Given the description of an element on the screen output the (x, y) to click on. 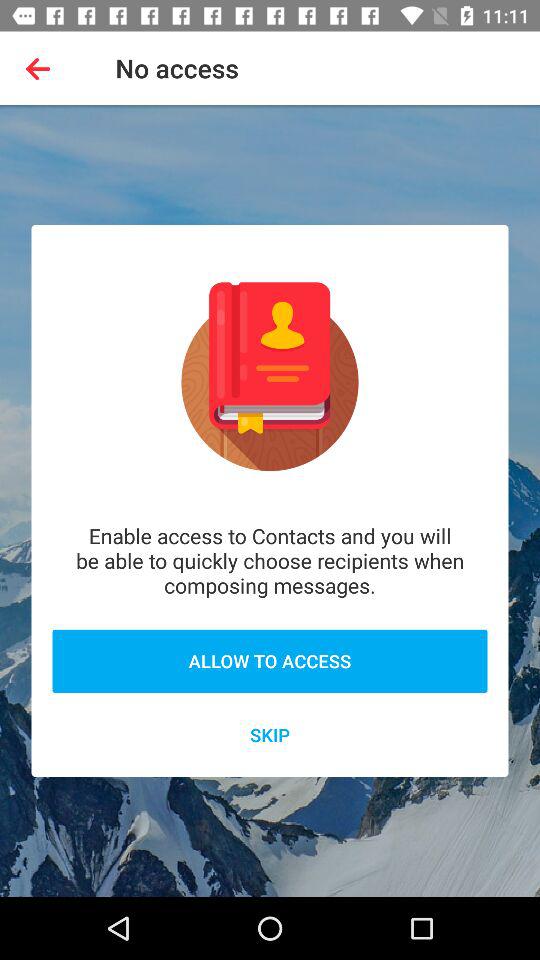
turn on item to the left of no access item (41, 68)
